Given the description of an element on the screen output the (x, y) to click on. 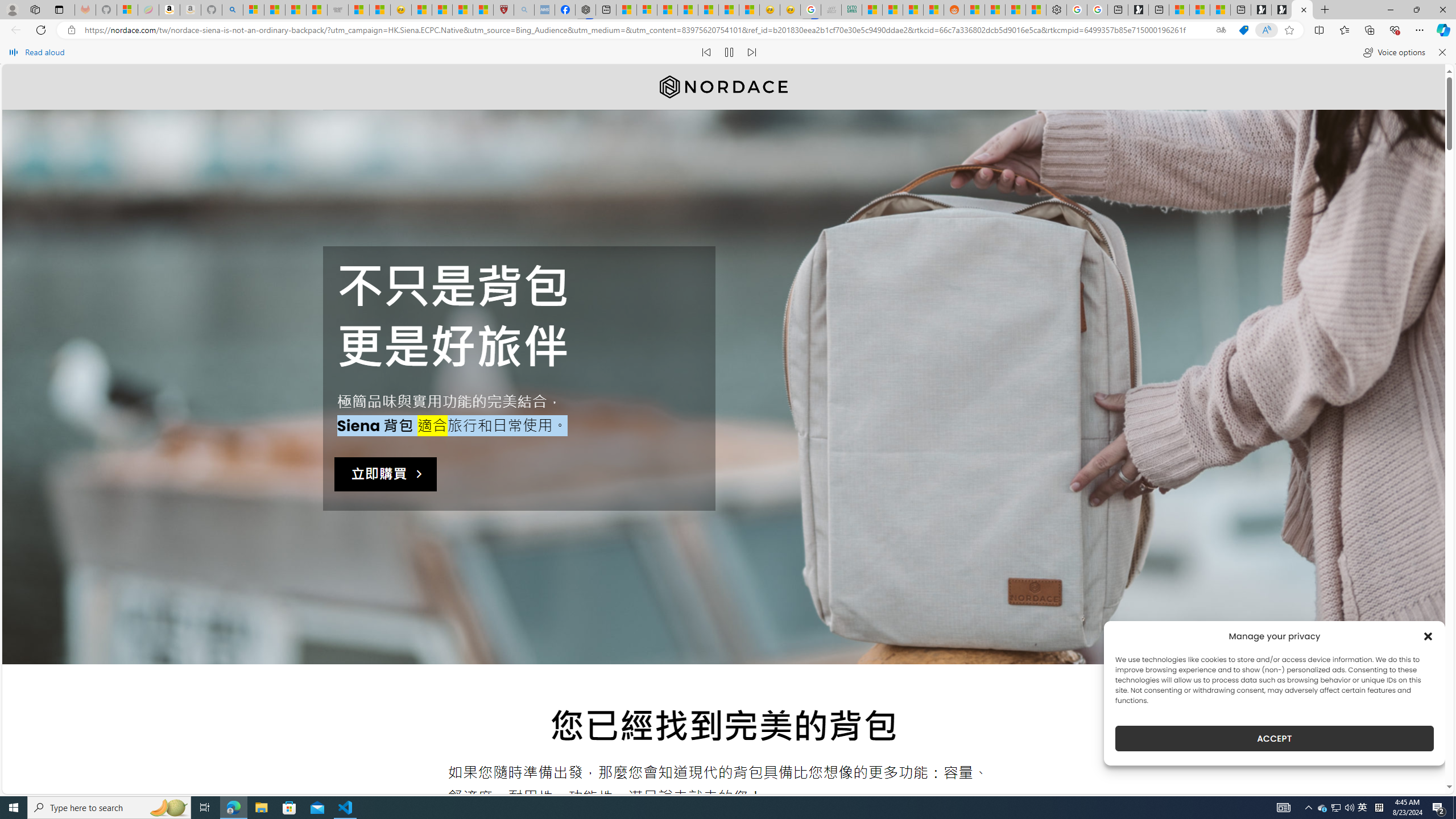
14 Common Myths Debunked By Scientific Facts (687, 9)
Science - MSN (461, 9)
Read previous paragraph (705, 52)
list of asthma inhalers uk - Search - Sleeping (523, 9)
Nordace (723, 86)
